Given the description of an element on the screen output the (x, y) to click on. 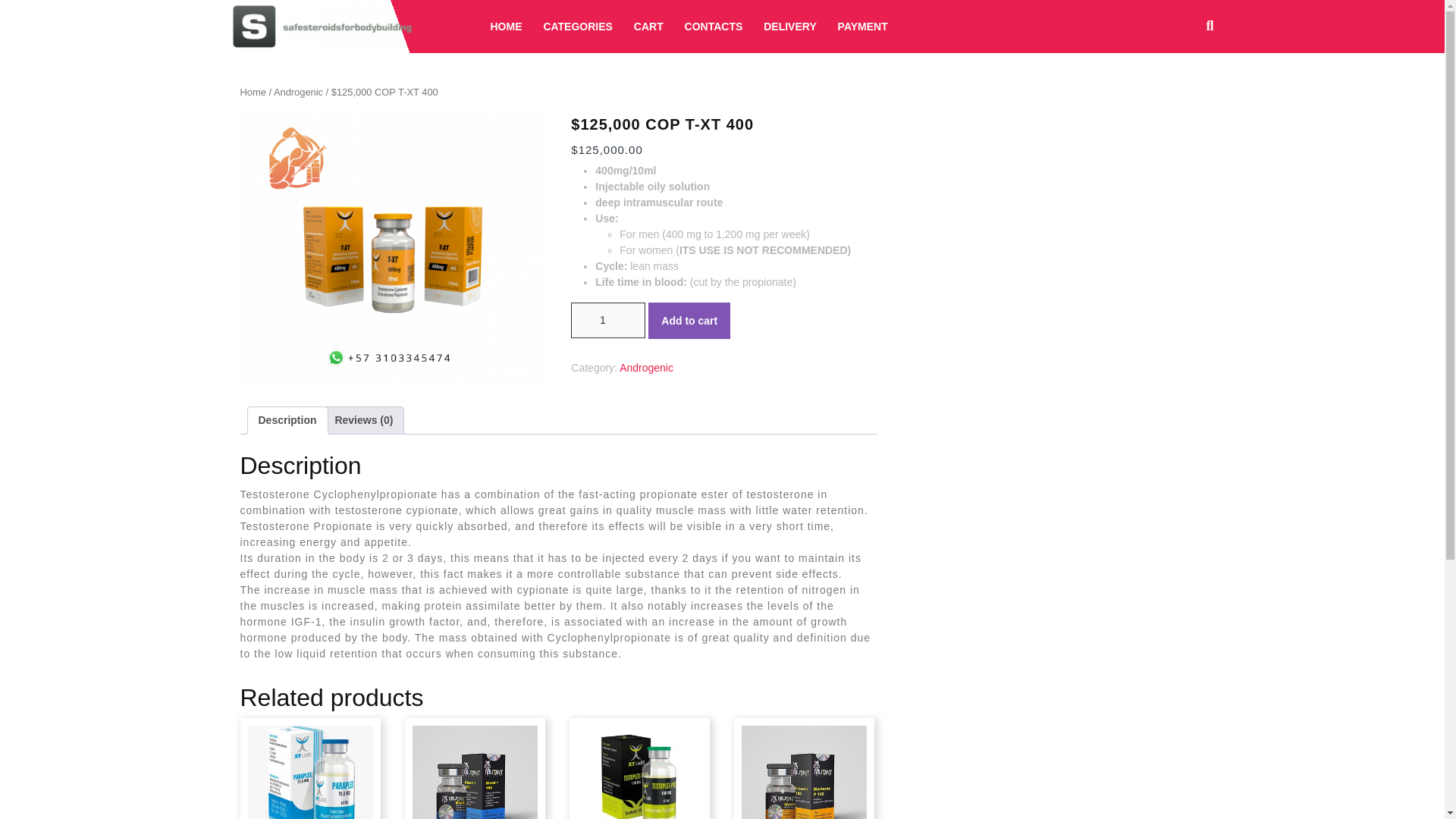
Home (252, 91)
PAYMENT (862, 25)
Androgenic (298, 91)
DELIVERY (789, 25)
CONTACTS (713, 25)
T-XT.png (392, 246)
CATEGORIES (577, 25)
1 (607, 320)
CART (648, 25)
HOME (505, 25)
Add to cart (688, 320)
Description (286, 420)
Androgenic (646, 367)
